Given the description of an element on the screen output the (x, y) to click on. 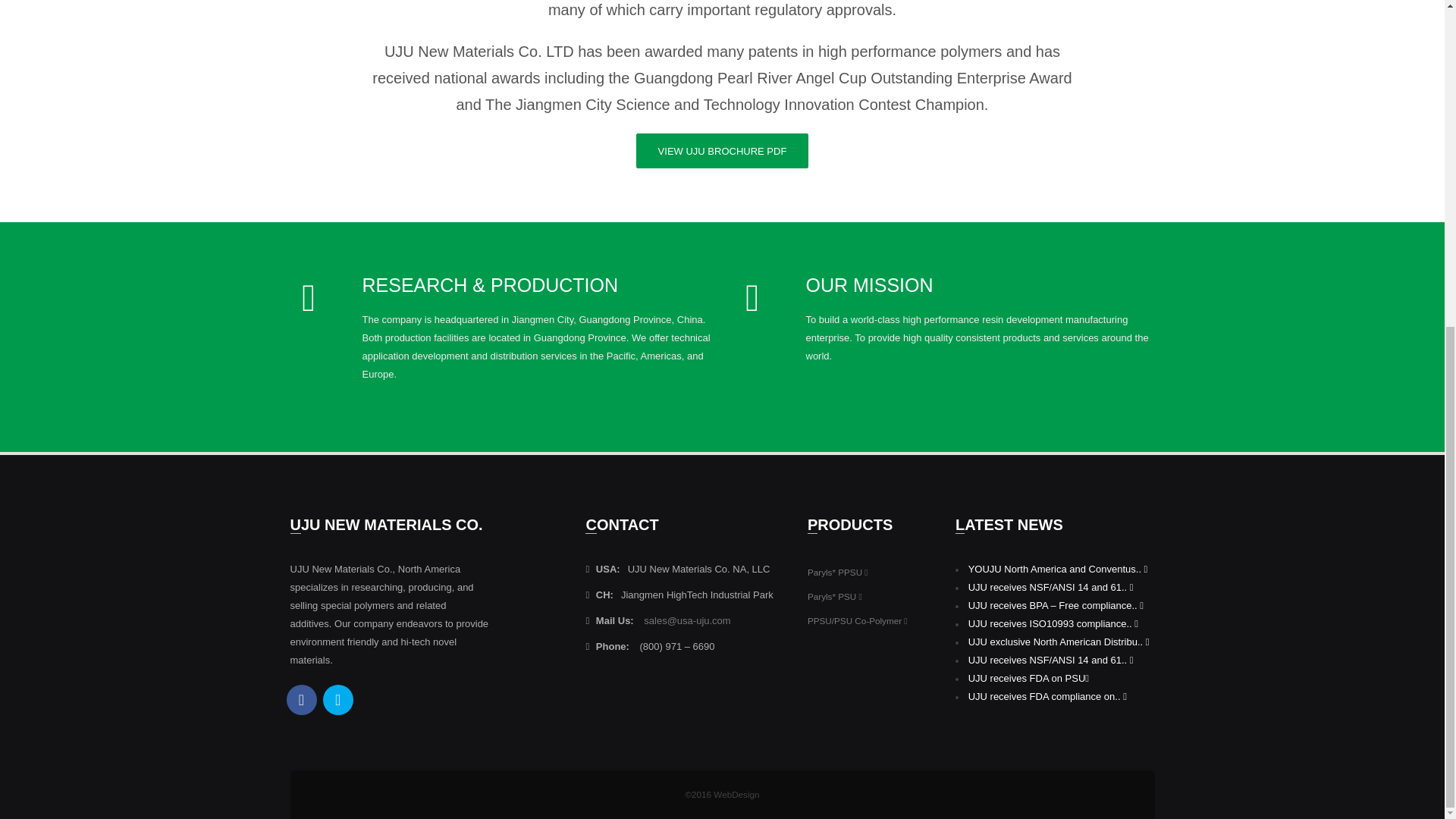
UJU receives FDA on PSU (1028, 677)
VIEW UJU BROCHURE PDF (722, 150)
UJU receives ISO10993 compliance.. (1053, 623)
UJU receives FDA compliance on.. (1047, 696)
UJU exclusive North American Distribu.. (1059, 641)
YOUJU North America and Conventus.. (1058, 568)
